Given the description of an element on the screen output the (x, y) to click on. 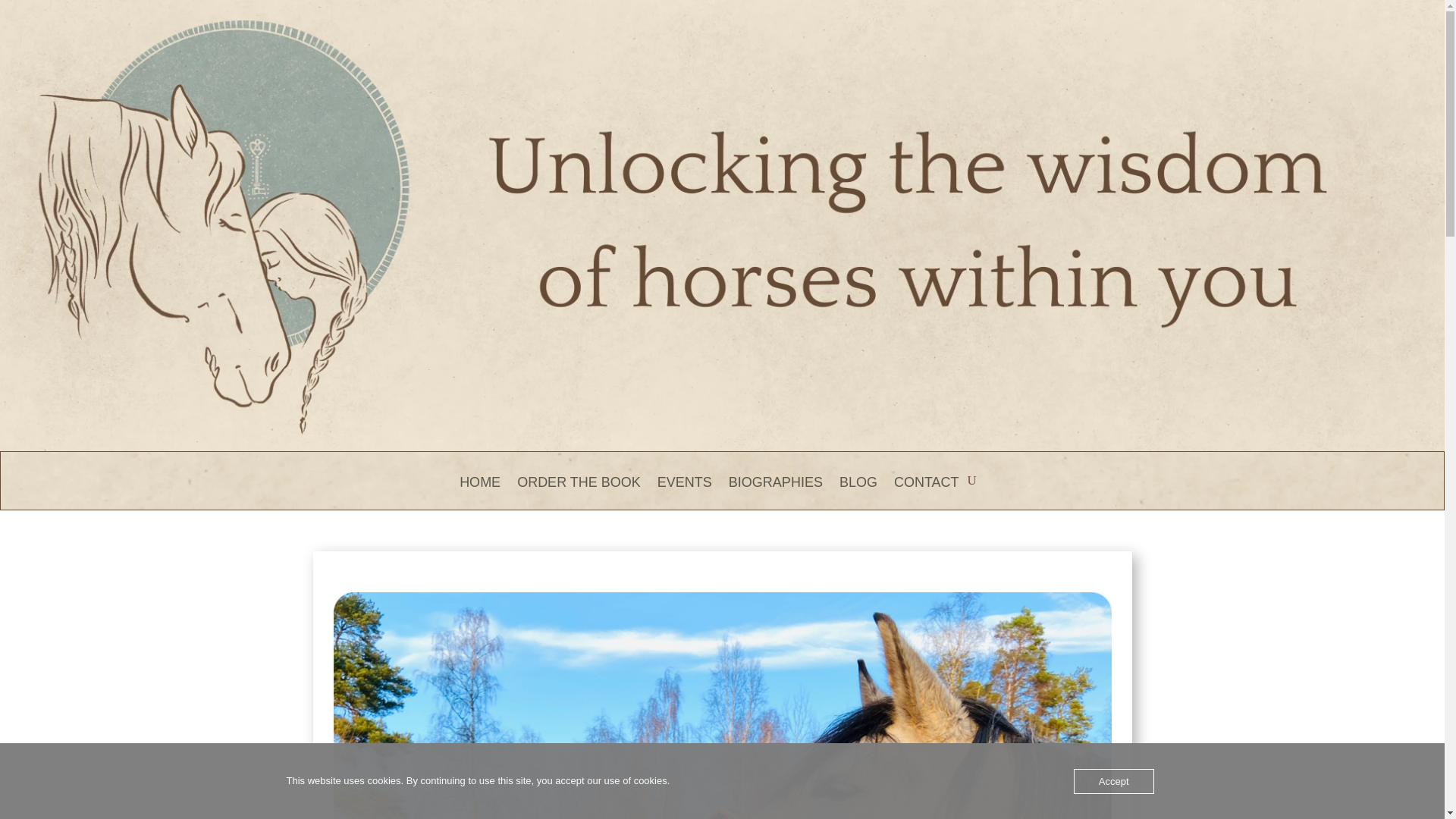
CONTACT (926, 492)
BLOG (858, 492)
HOME (480, 492)
BIOGRAPHIES (775, 492)
ORDER THE BOOK (578, 492)
EVENTS (684, 492)
